Given the description of an element on the screen output the (x, y) to click on. 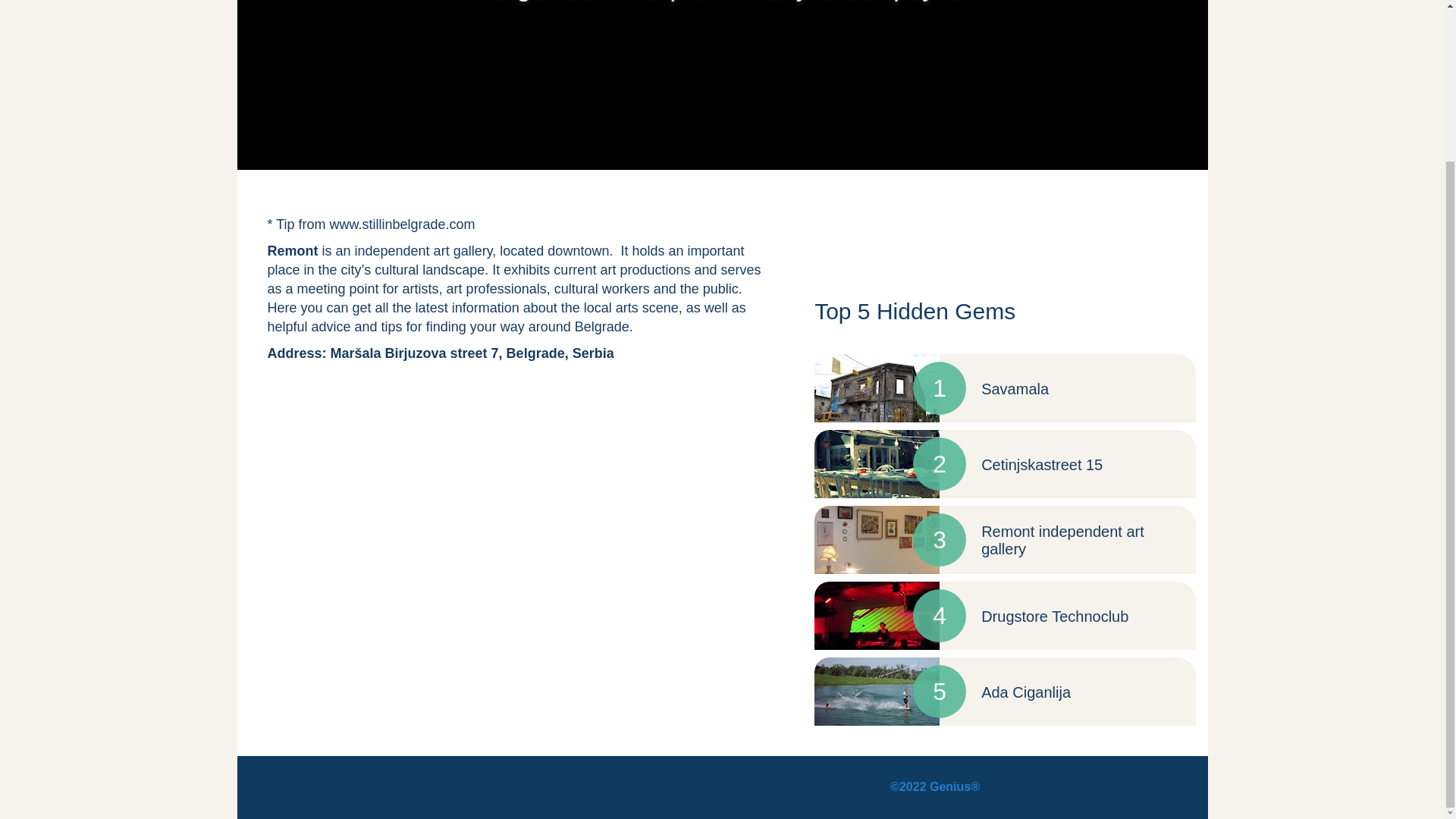
Savamala (1014, 388)
www.stillinbelgrade.com (403, 224)
Ada Ciganlija (1025, 692)
Drugstore Technoclub (1054, 616)
Cetinjskastreet 15 (1041, 464)
Remont independent art gallery (1062, 540)
